Given the description of an element on the screen output the (x, y) to click on. 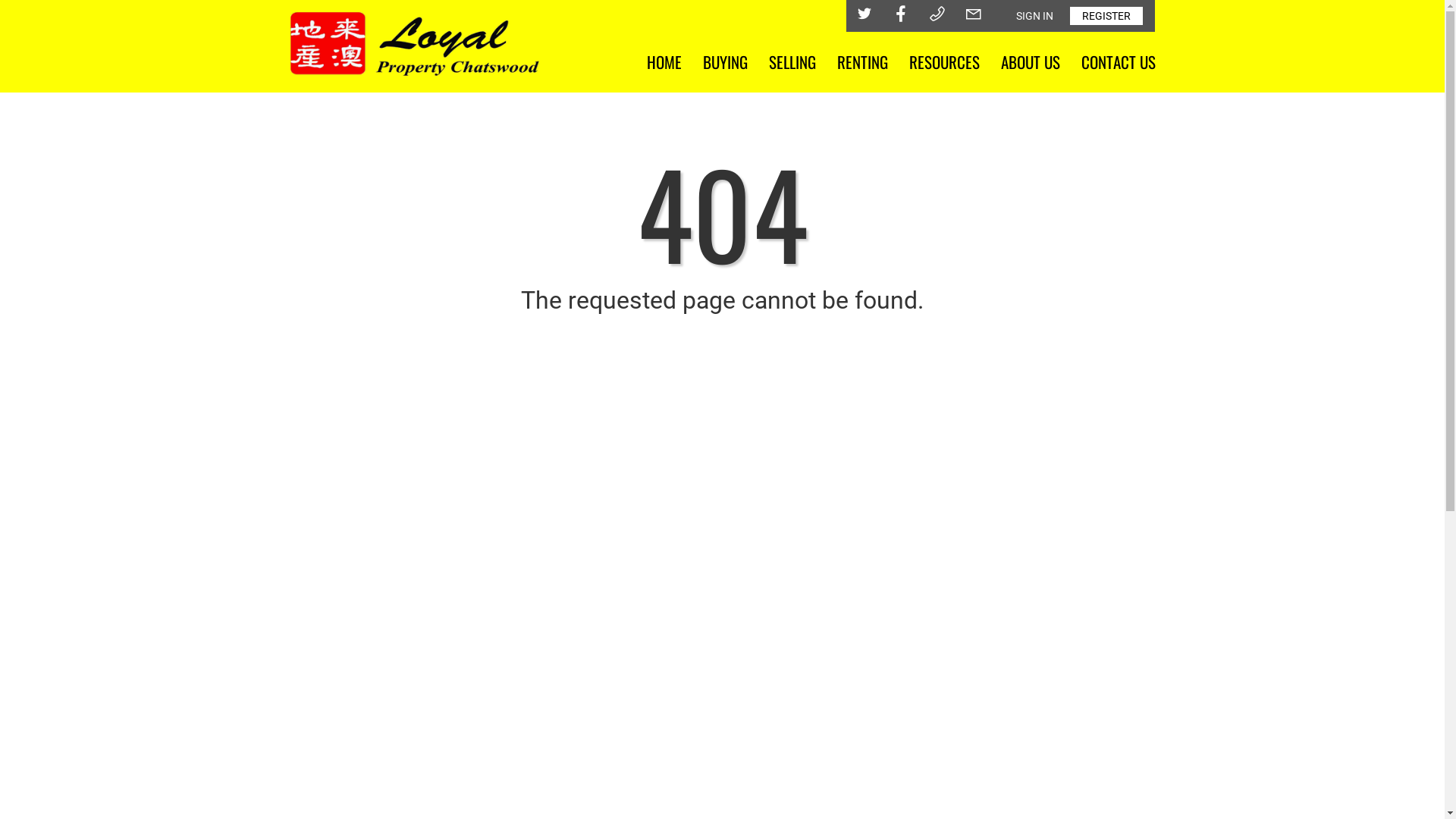
HOME Element type: text (663, 61)
SIGN IN Element type: text (1034, 15)
REGISTER Element type: text (1105, 15)
CONTACT US Element type: text (1118, 61)
RESOURCES Element type: text (943, 61)
ABOUT US Element type: text (1030, 61)
BUYING Element type: text (724, 61)
SELLING Element type: text (792, 61)
RENTING Element type: text (862, 61)
